Given the description of an element on the screen output the (x, y) to click on. 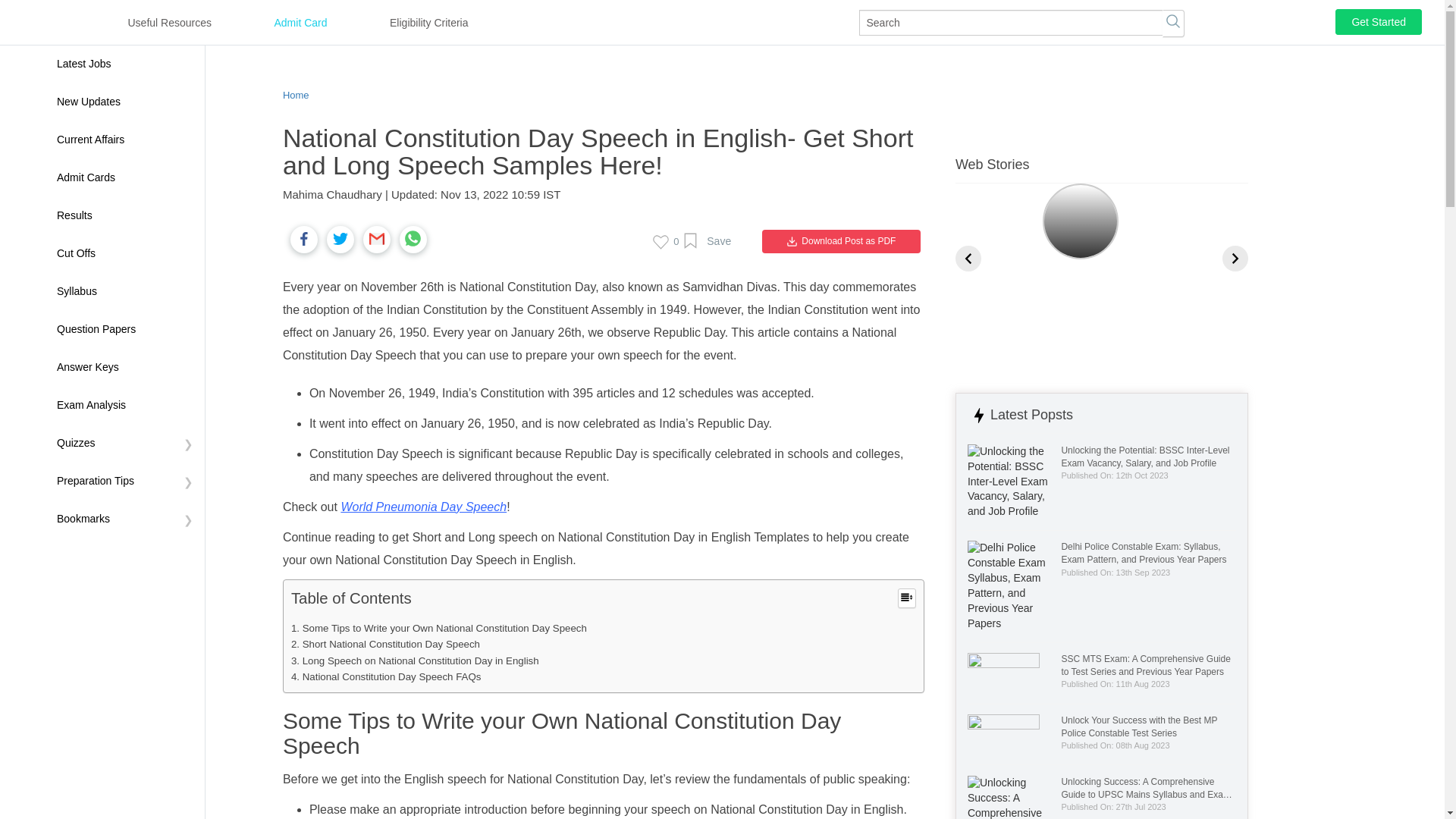
Exam Analysis (125, 405)
Admit Cards (125, 177)
Cut Offs (125, 253)
Question Papers (125, 329)
Admit Card (305, 20)
Useful Resources (175, 22)
Bookmarks (125, 519)
National Constitution Day Speech FAQs (386, 676)
Go to Home. (295, 94)
Get Started (1378, 22)
